Given the description of an element on the screen output the (x, y) to click on. 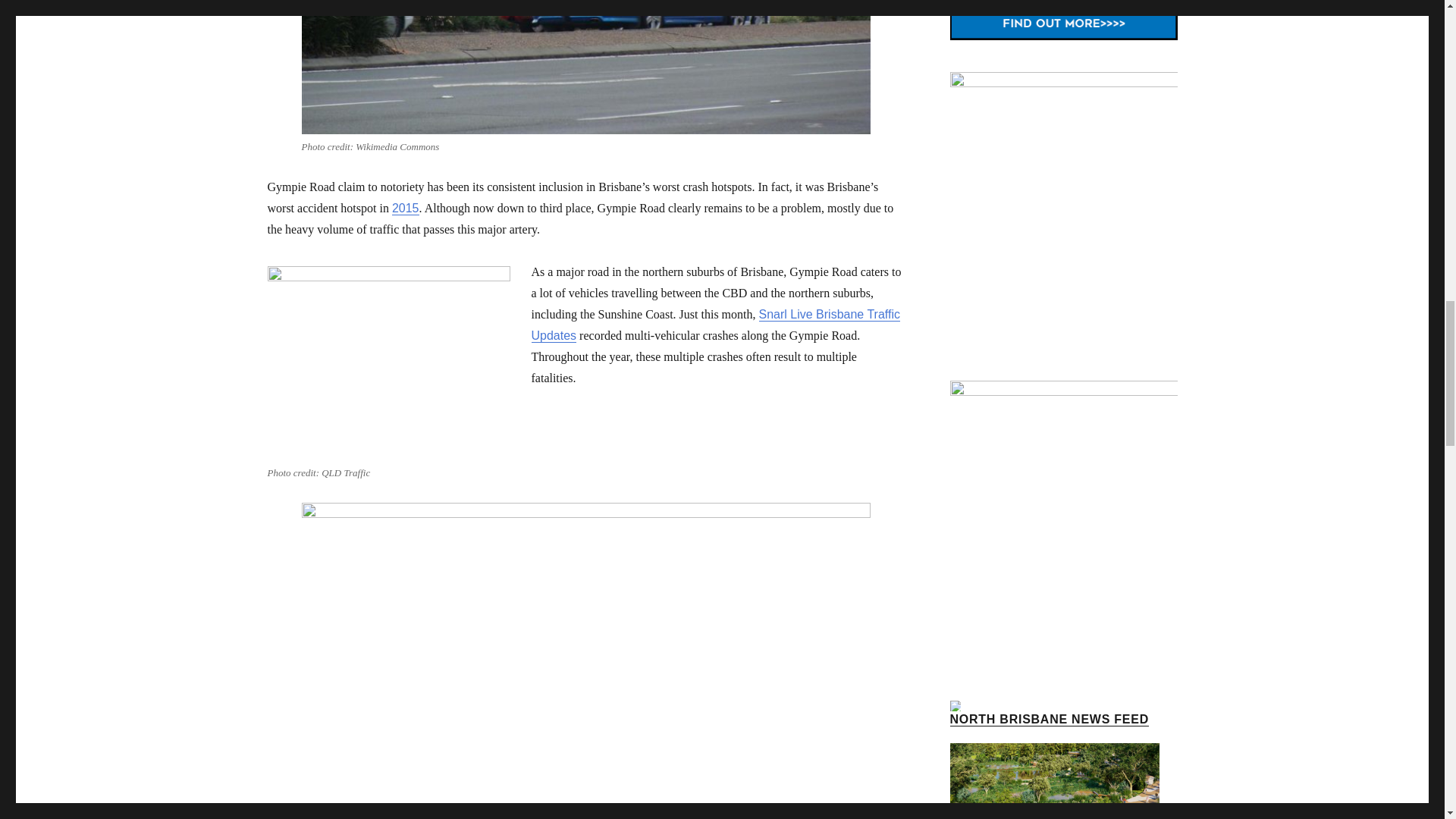
Snarl Live Brisbane Traffic Updates (715, 324)
NORTH BRISBANE NEWS FEED (1048, 718)
2015 (405, 207)
